Given the description of an element on the screen output the (x, y) to click on. 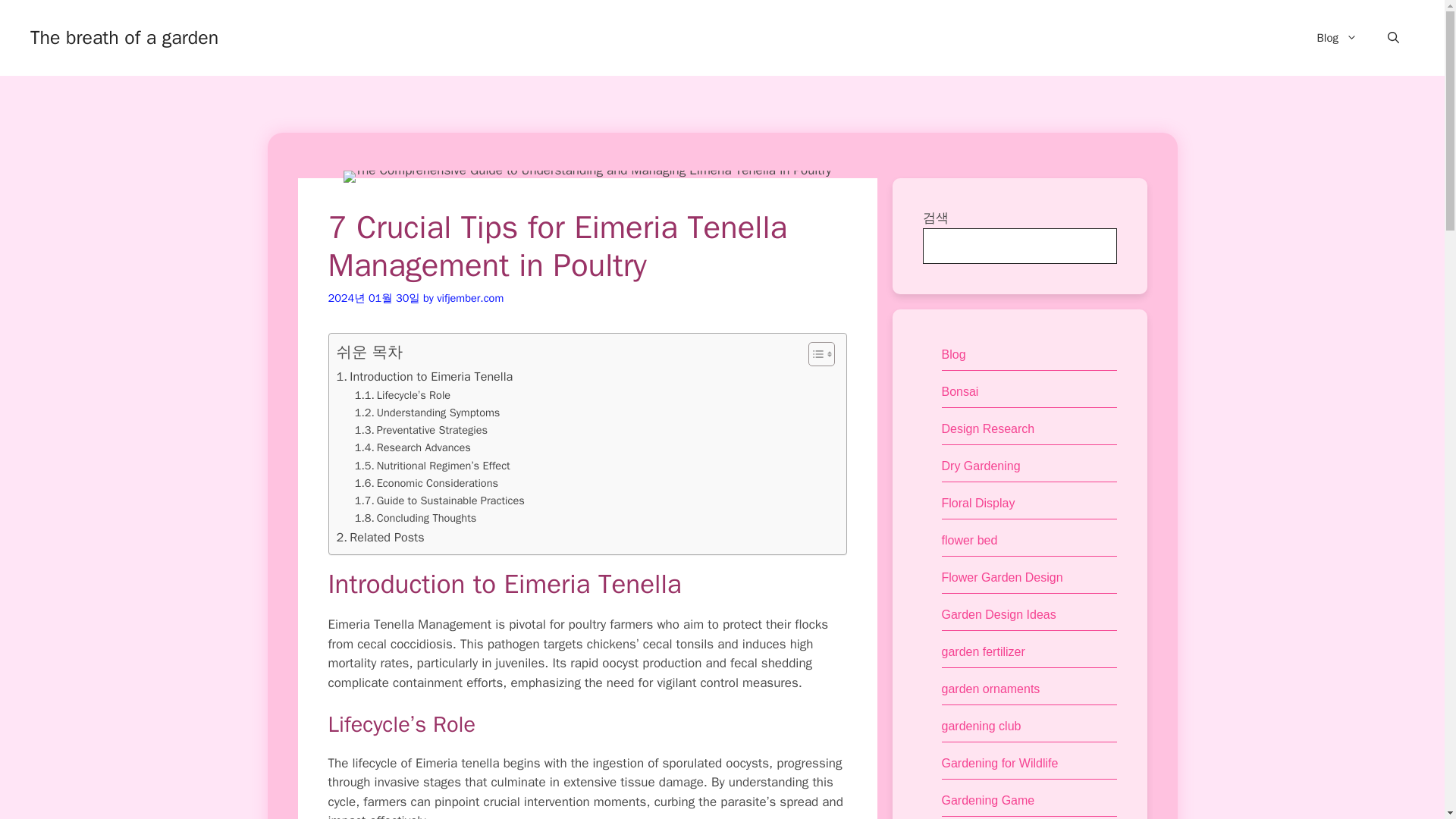
Blog (954, 354)
The breath of a garden (124, 37)
Related Posts (380, 537)
Guide to Sustainable Practices (439, 500)
Introduction to Eimeria Tenella (424, 376)
Understanding Symptoms (427, 412)
Introduction to Eimeria Tenella (424, 376)
Floral Display (978, 502)
Dry Gardening (981, 465)
View all posts by vifjember.com (469, 297)
Economic Considerations (426, 483)
flower bed (969, 540)
Related Posts (380, 537)
Bonsai (960, 391)
Guide to Sustainable Practices (439, 500)
